Given the description of an element on the screen output the (x, y) to click on. 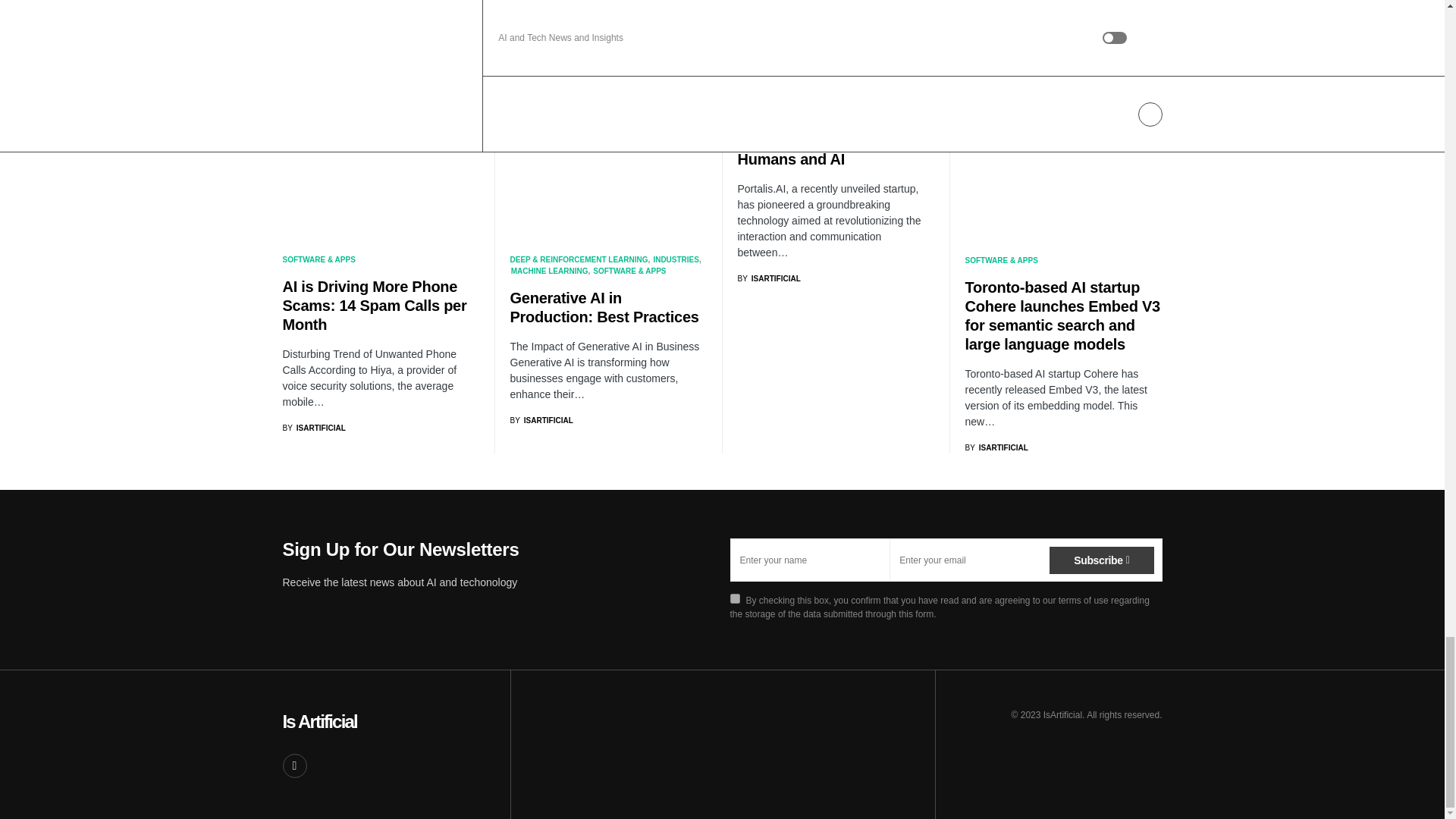
on (734, 598)
View all posts by IsArtificial (313, 428)
View all posts by IsArtificial (995, 447)
View all posts by IsArtificial (540, 419)
View all posts by IsArtificial (767, 278)
